Given the description of an element on the screen output the (x, y) to click on. 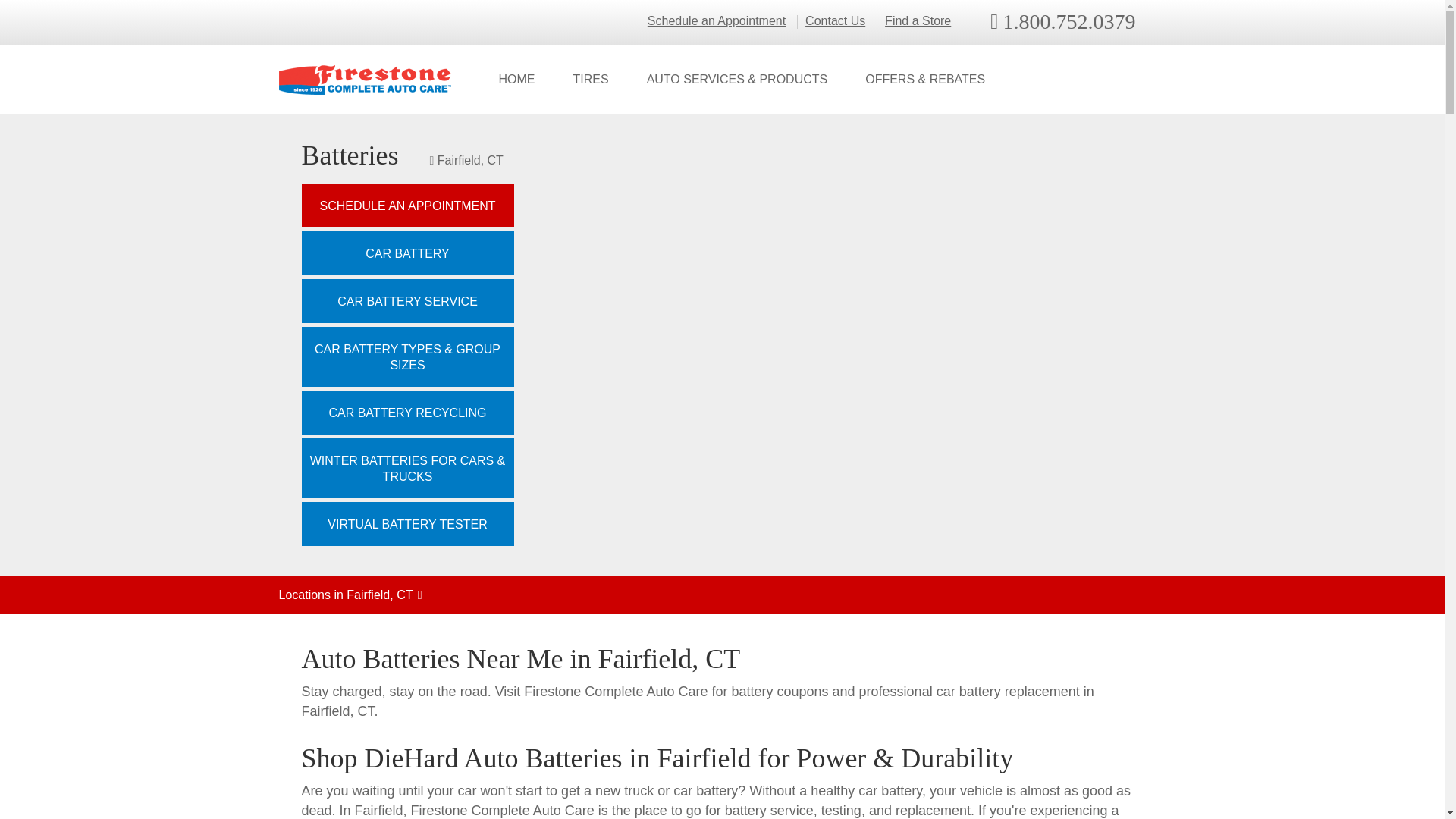
Locations in Fairfield, CT (722, 595)
Schedule an Appointment (716, 20)
CAR BATTERY (407, 252)
Firestone Complete Auto Care (365, 80)
CAR BATTERY RECYCLING (407, 412)
HOME (516, 79)
1.800.752.0379 (1062, 22)
VIRTUAL BATTERY TESTER (407, 524)
TIRES (590, 79)
SCHEDULE AN APPOINTMENT (407, 205)
